Given the description of an element on the screen output the (x, y) to click on. 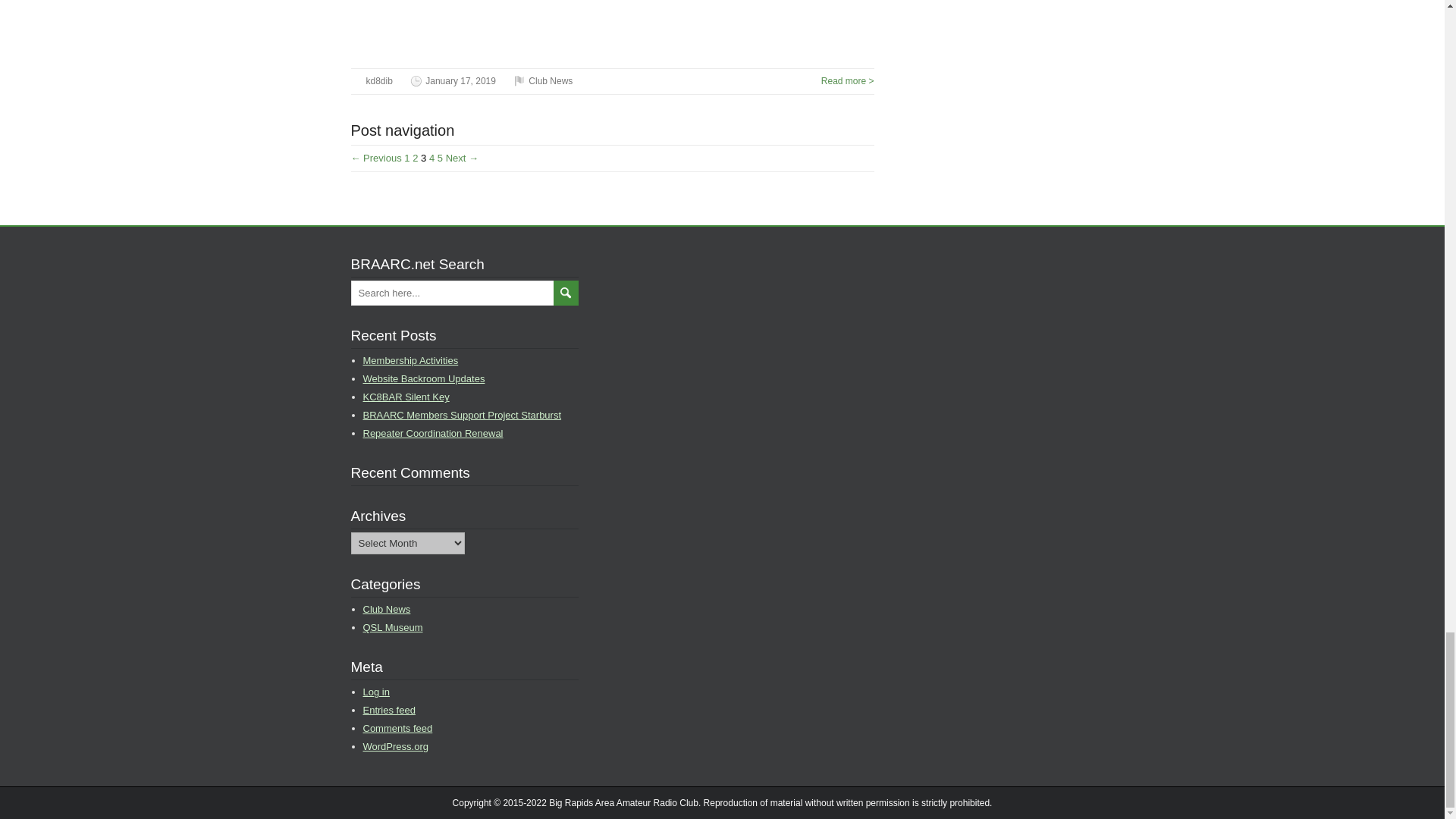
Posts by kd8dib (378, 81)
